Given the description of an element on the screen output the (x, y) to click on. 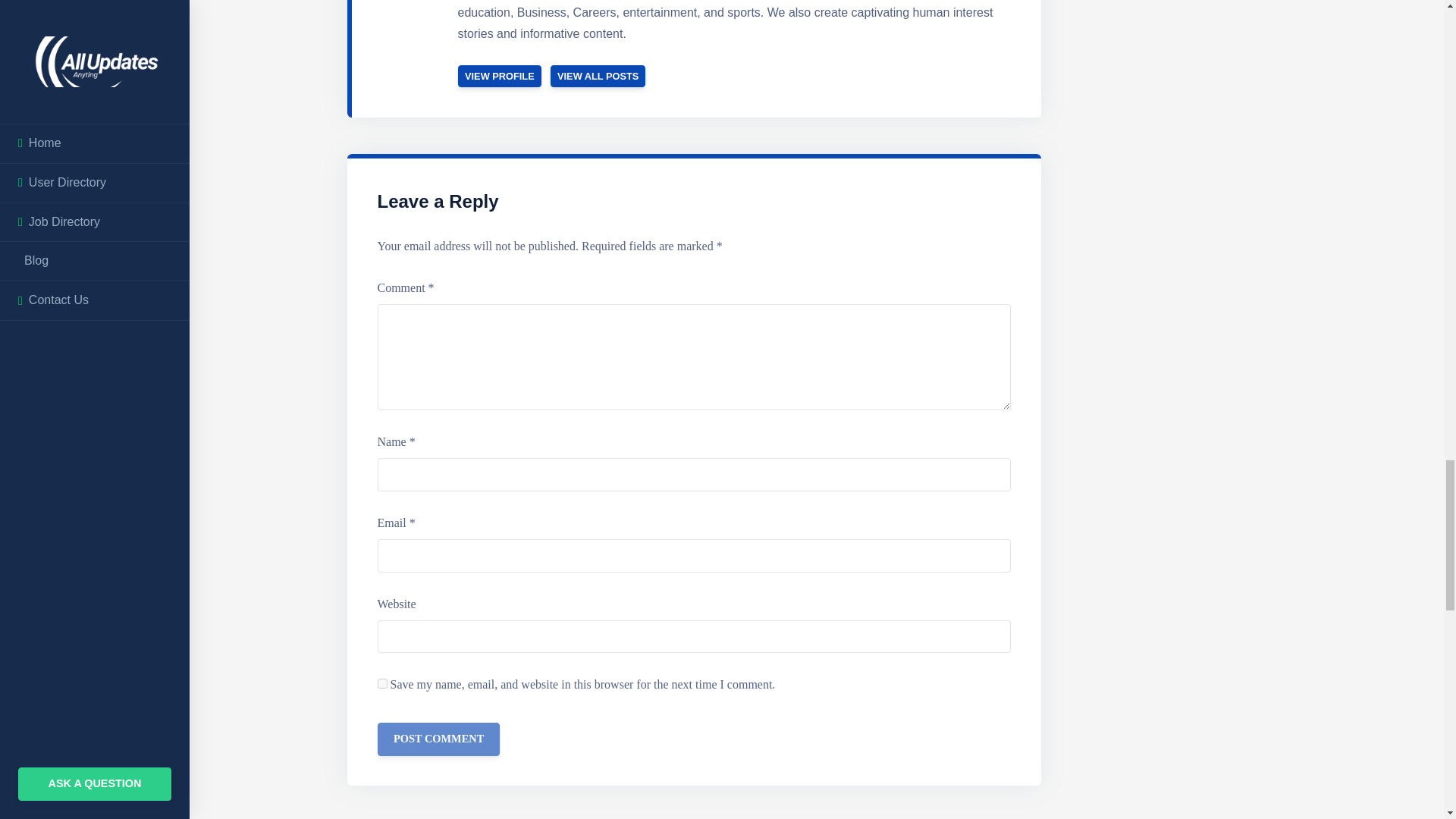
yes (382, 683)
VIEW PROFILE (499, 75)
Post Comment (438, 738)
VIEW ALL POSTS (597, 75)
Post Comment (438, 738)
